Given the description of an element on the screen output the (x, y) to click on. 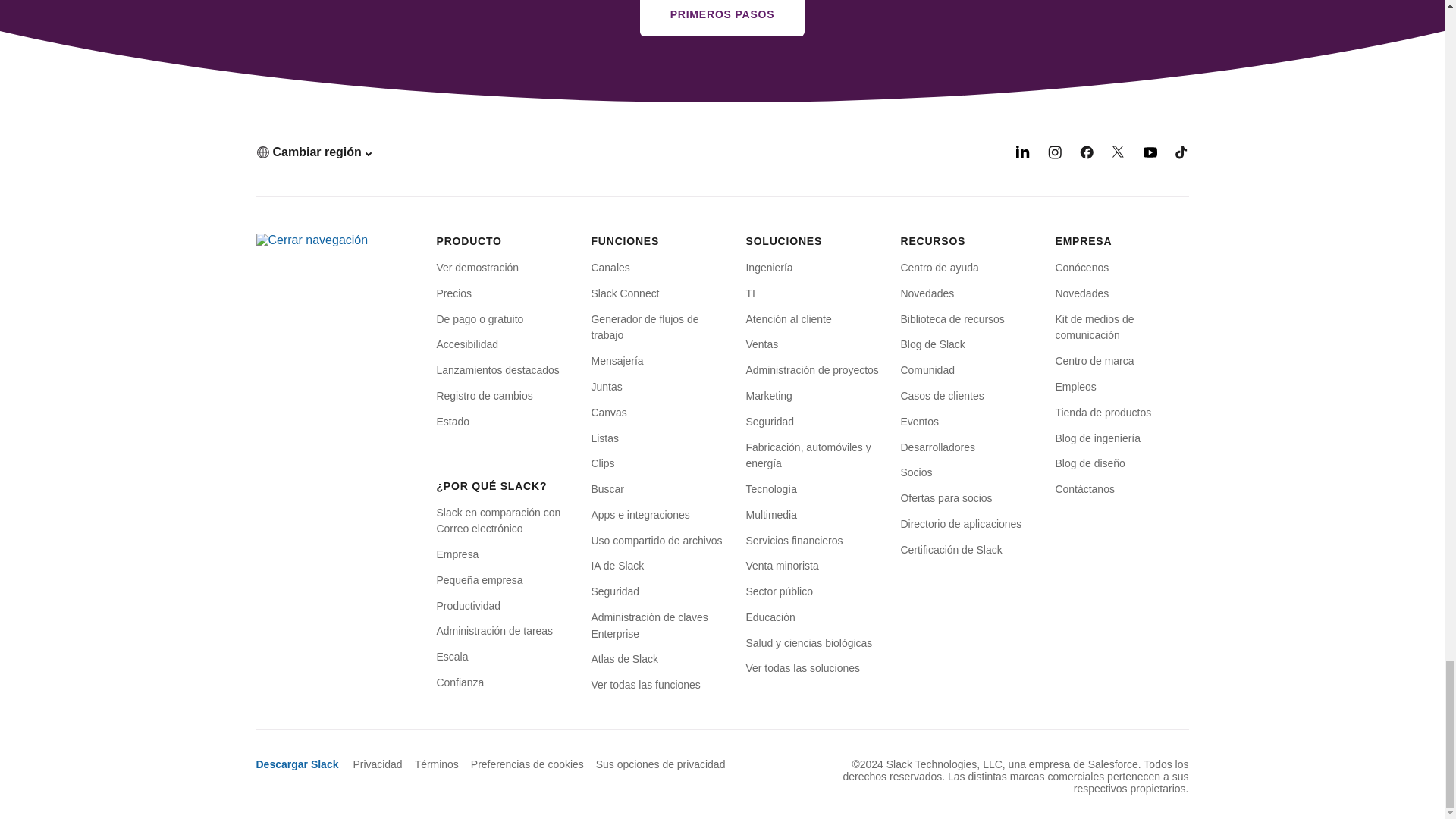
X (1118, 154)
Sus opciones de privacidad (655, 764)
TikTok (1181, 154)
LinkedIn (1022, 154)
Instagram (1054, 154)
Facebook (1086, 154)
YouTube (1149, 154)
